Given the description of an element on the screen output the (x, y) to click on. 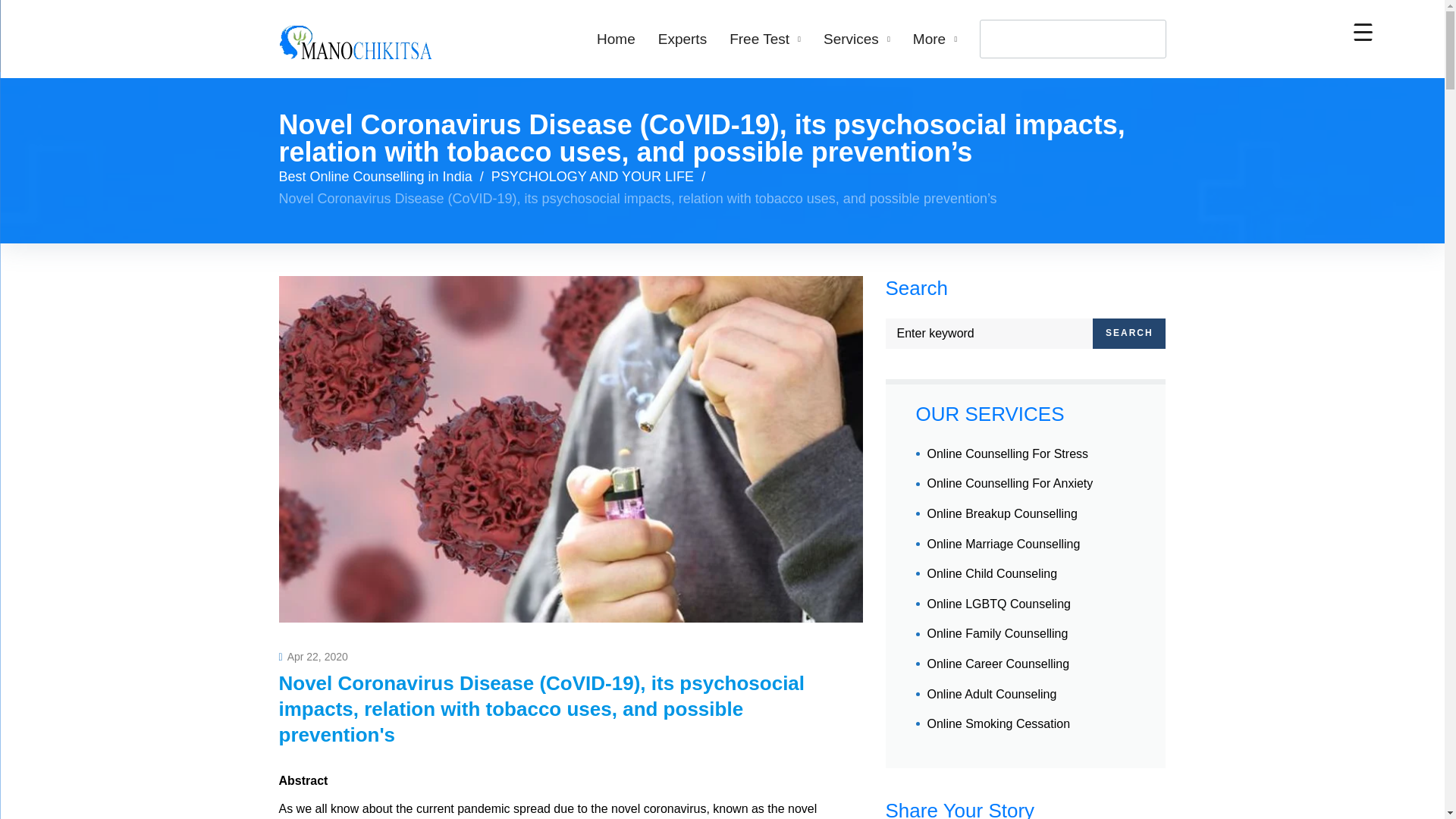
Best Online Counselling in India (375, 176)
PSYCHOLOGY AND YOUR LIFE (593, 176)
More (934, 39)
Experts (682, 39)
Search for: (989, 333)
Home (615, 39)
Free Test (764, 39)
Services (856, 39)
PSYCHOLOGY AND YOUR LIFE (593, 176)
BOOK ONLINE THERAPY (1072, 38)
Best Online Counselling in India (375, 176)
Apr 22, 2020 (313, 656)
